Given the description of an element on the screen output the (x, y) to click on. 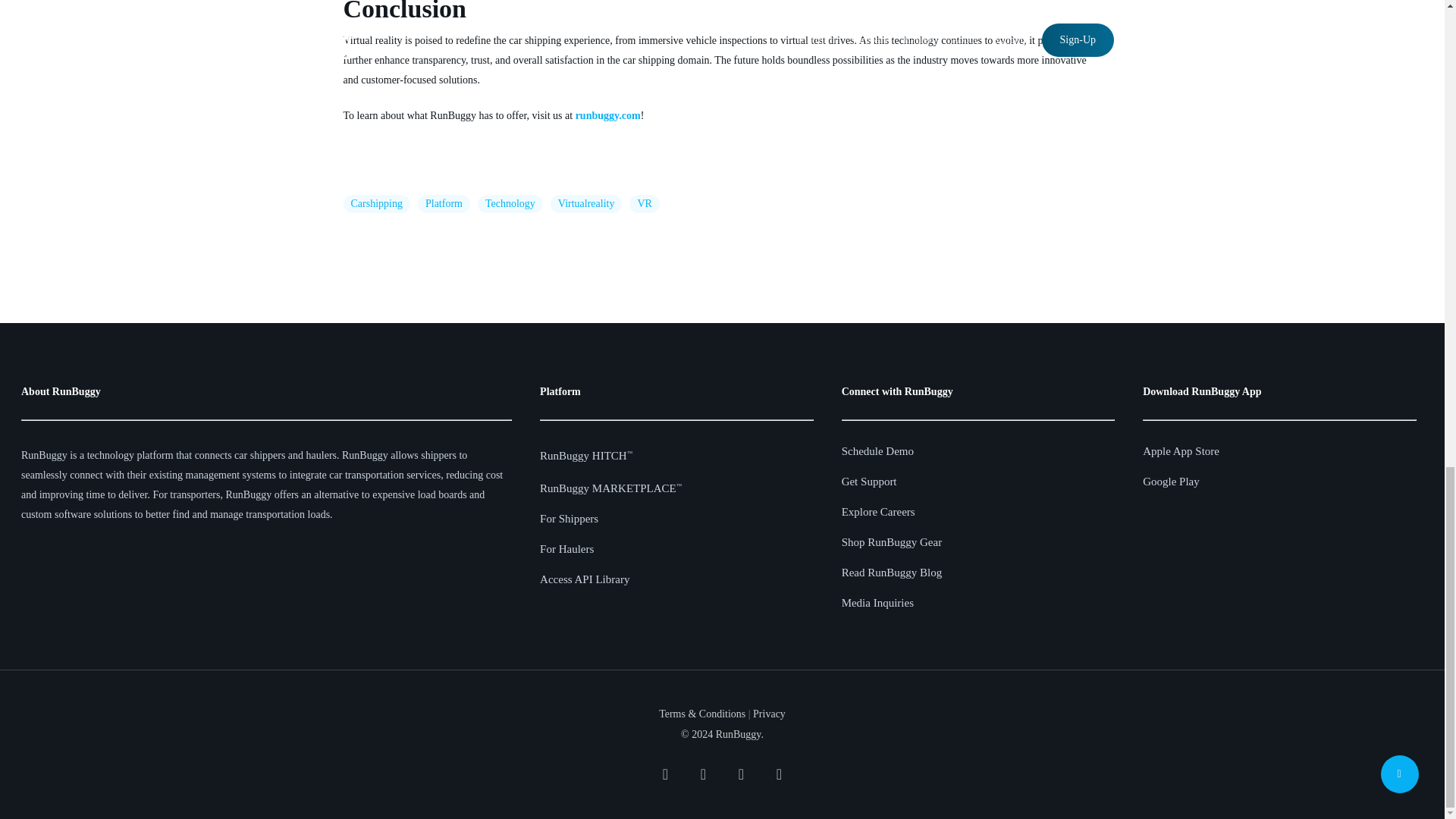
Carshipping (375, 203)
Technology (510, 203)
runbuggy.com (607, 115)
VR (643, 203)
Virtualreality (586, 203)
Platform (443, 203)
